Given the description of an element on the screen output the (x, y) to click on. 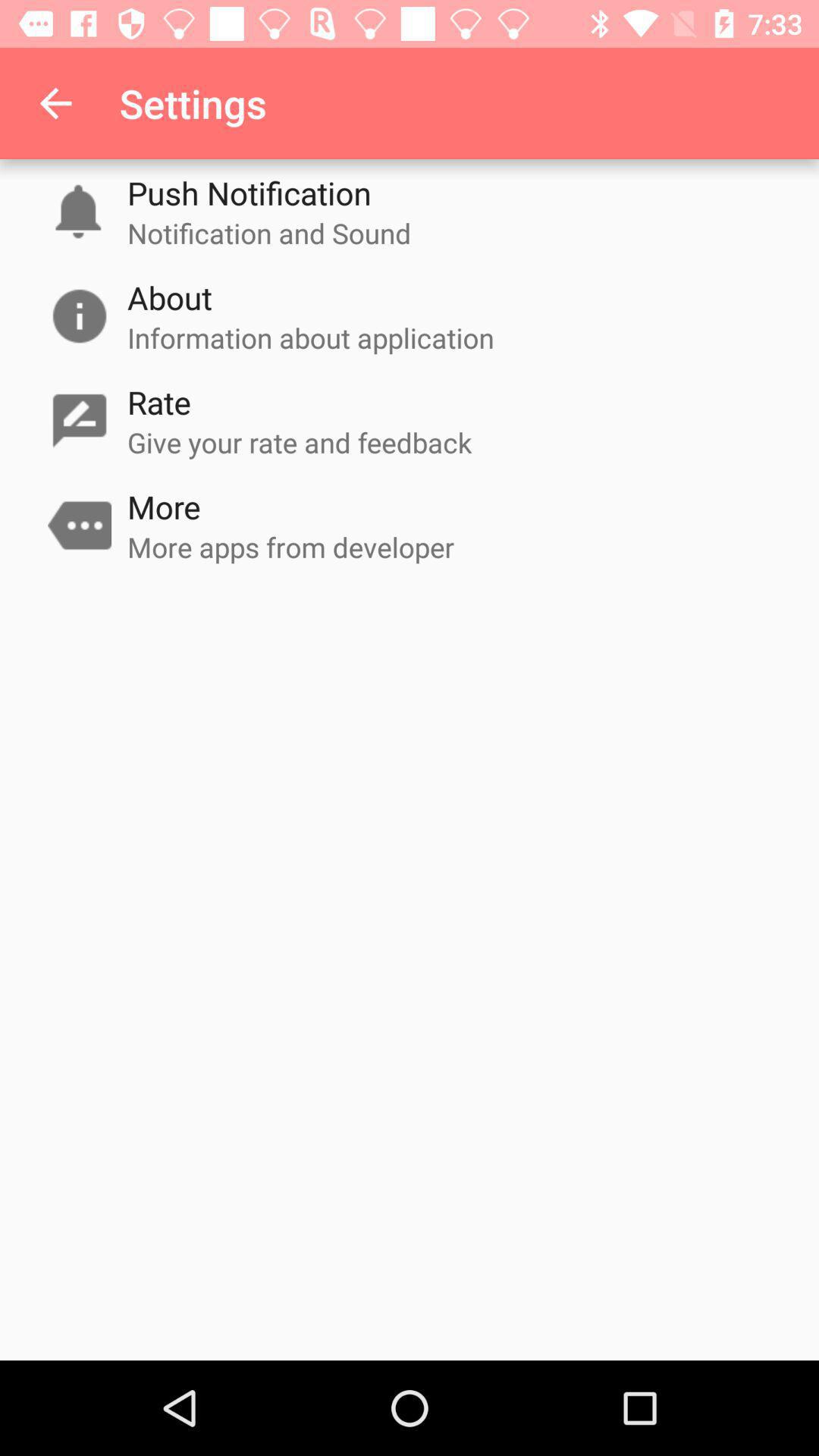
turn on item below about item (310, 337)
